Given the description of an element on the screen output the (x, y) to click on. 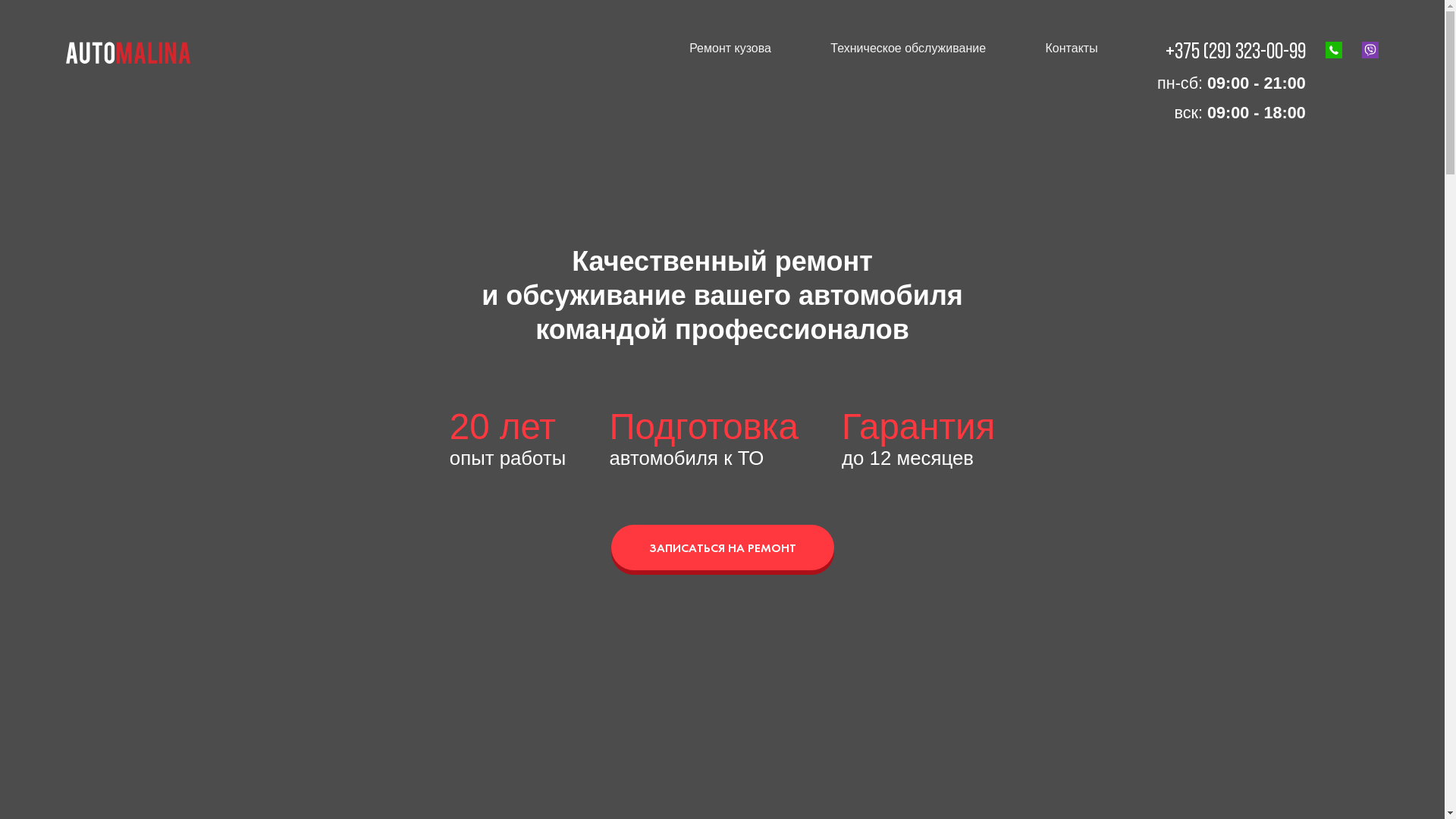
+375 (29) 323-00-99 Element type: text (1235, 52)
